Given the description of an element on the screen output the (x, y) to click on. 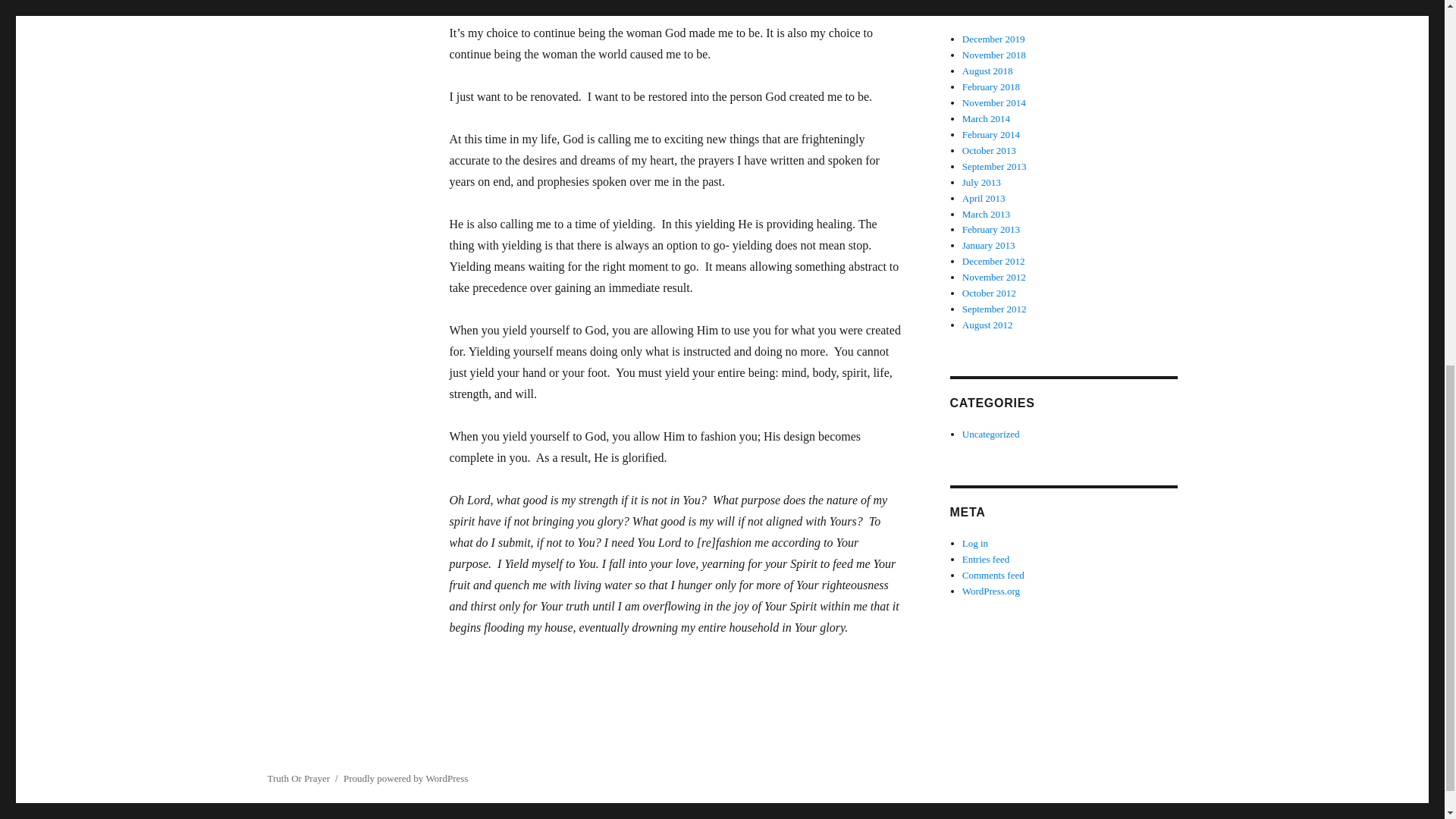
December 2019 (993, 39)
October 2012 (989, 292)
March 2013 (986, 213)
July 2013 (981, 182)
November 2014 (994, 102)
November 2012 (994, 276)
February 2014 (991, 134)
March 2014 (986, 118)
August 2018 (987, 70)
November 2018 (994, 54)
October 2013 (989, 150)
February 2013 (991, 229)
January 2013 (988, 244)
April 2013 (984, 197)
February 2018 (991, 86)
